Given the description of an element on the screen output the (x, y) to click on. 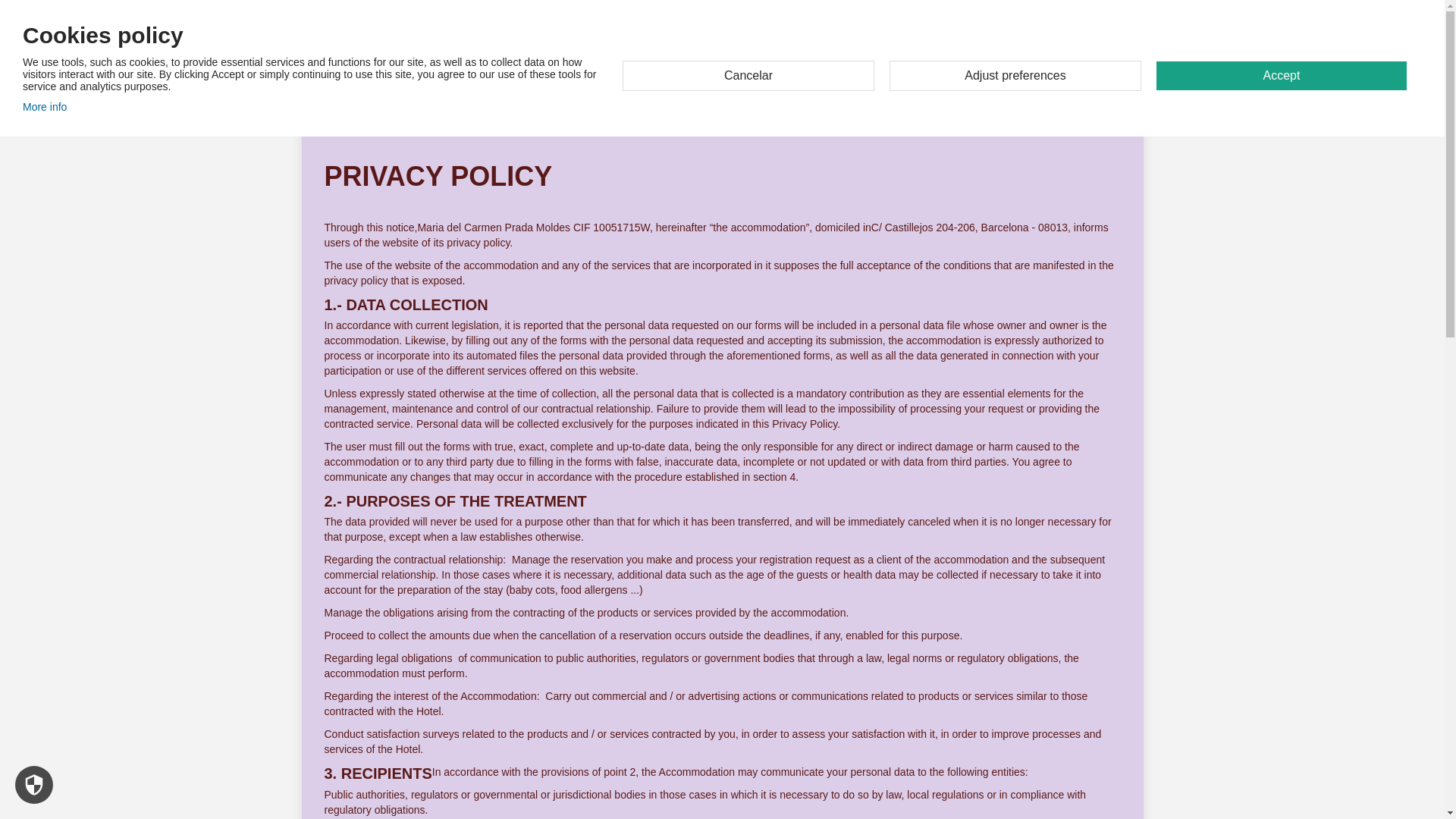
Contact (1117, 60)
More info (44, 106)
Hostal Ruta de Francia (396, 60)
Accept (1281, 75)
Cookies policy (44, 106)
Opinions (1062, 60)
Cancelar (749, 75)
Gallery (967, 60)
Hostal (827, 60)
Offers (919, 60)
Adjust preferences (1015, 75)
Rooms (874, 60)
Rates (1012, 60)
